Given the description of an element on the screen output the (x, y) to click on. 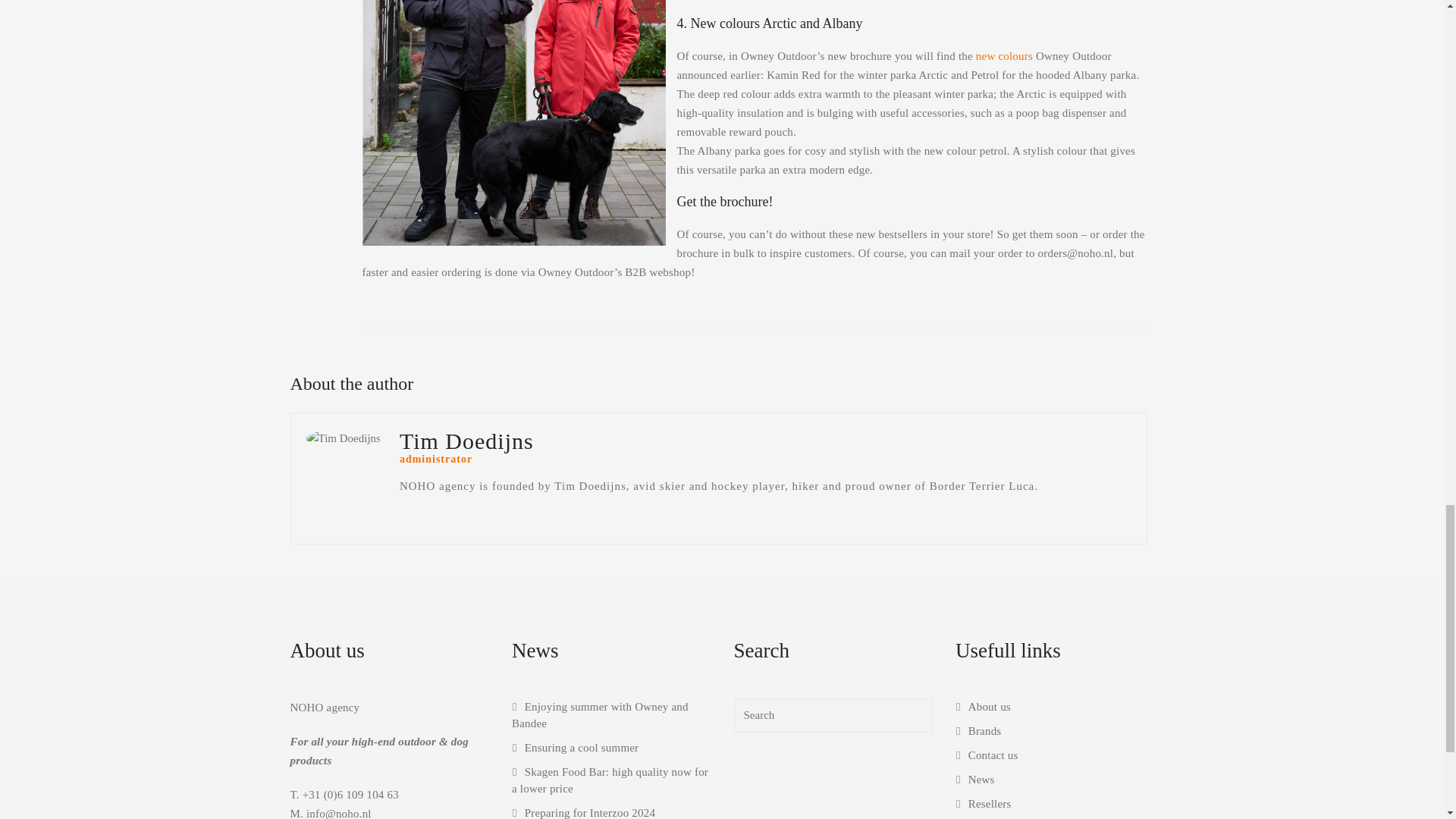
Preparing for Interzoo 2024 (583, 812)
Ensuring a cool summer (575, 747)
About us (982, 706)
Tim Doedijns (342, 438)
new colours (1003, 55)
Skagen Food Bar: high quality now for a lower price (609, 779)
Enjoying summer with Owney and Bandee (600, 715)
